Given the description of an element on the screen output the (x, y) to click on. 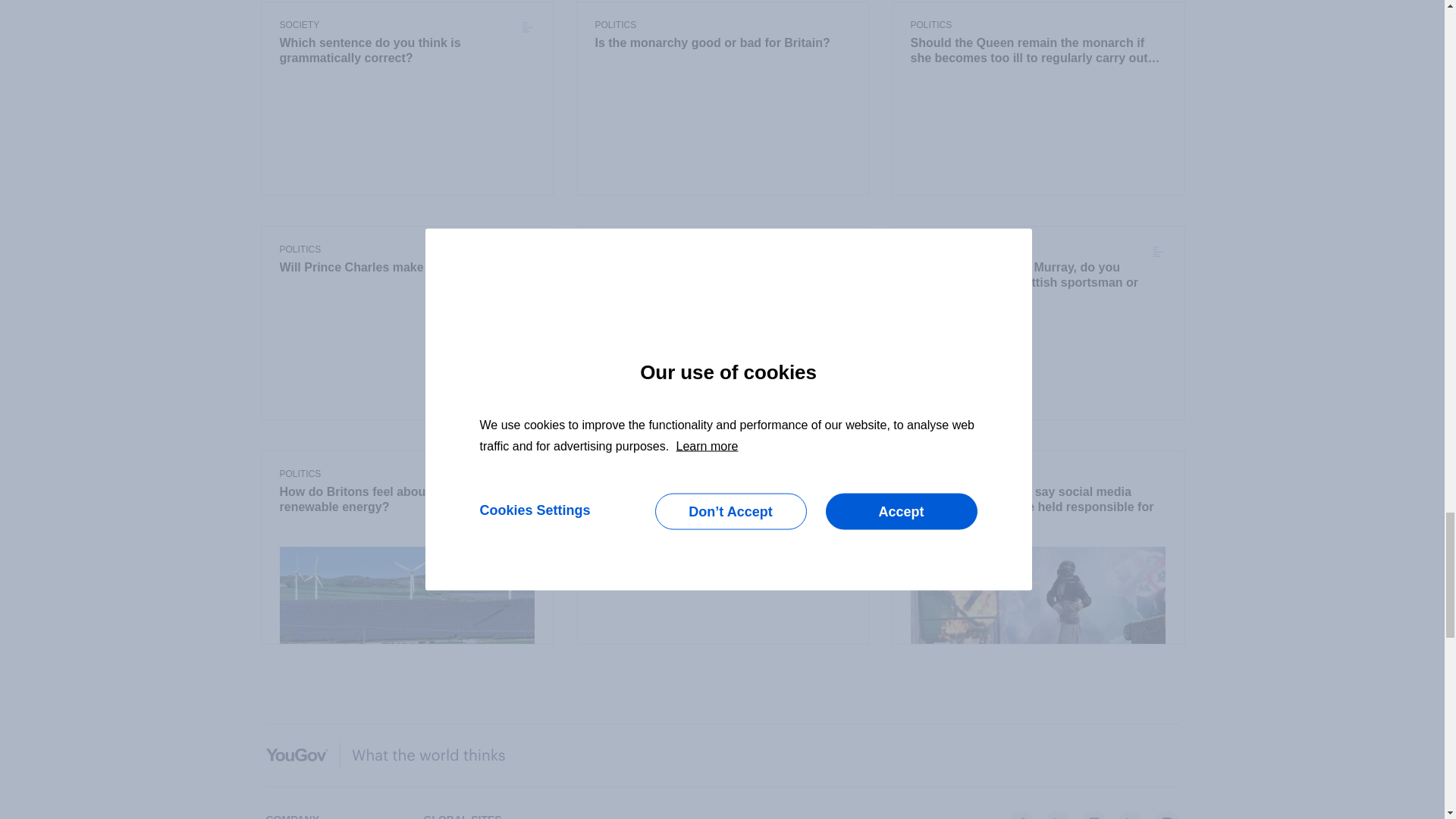
Which sentence do you think is grammatically correct? (397, 50)
Is the monarchy good or bad for Britain? (721, 43)
John Humphrys - Back to beer and sandwiches at Number 10? (721, 499)
Will Prince Charles make a good king? (406, 267)
How do Britons feel about expanding renewable energy? (406, 499)
